Given the description of an element on the screen output the (x, y) to click on. 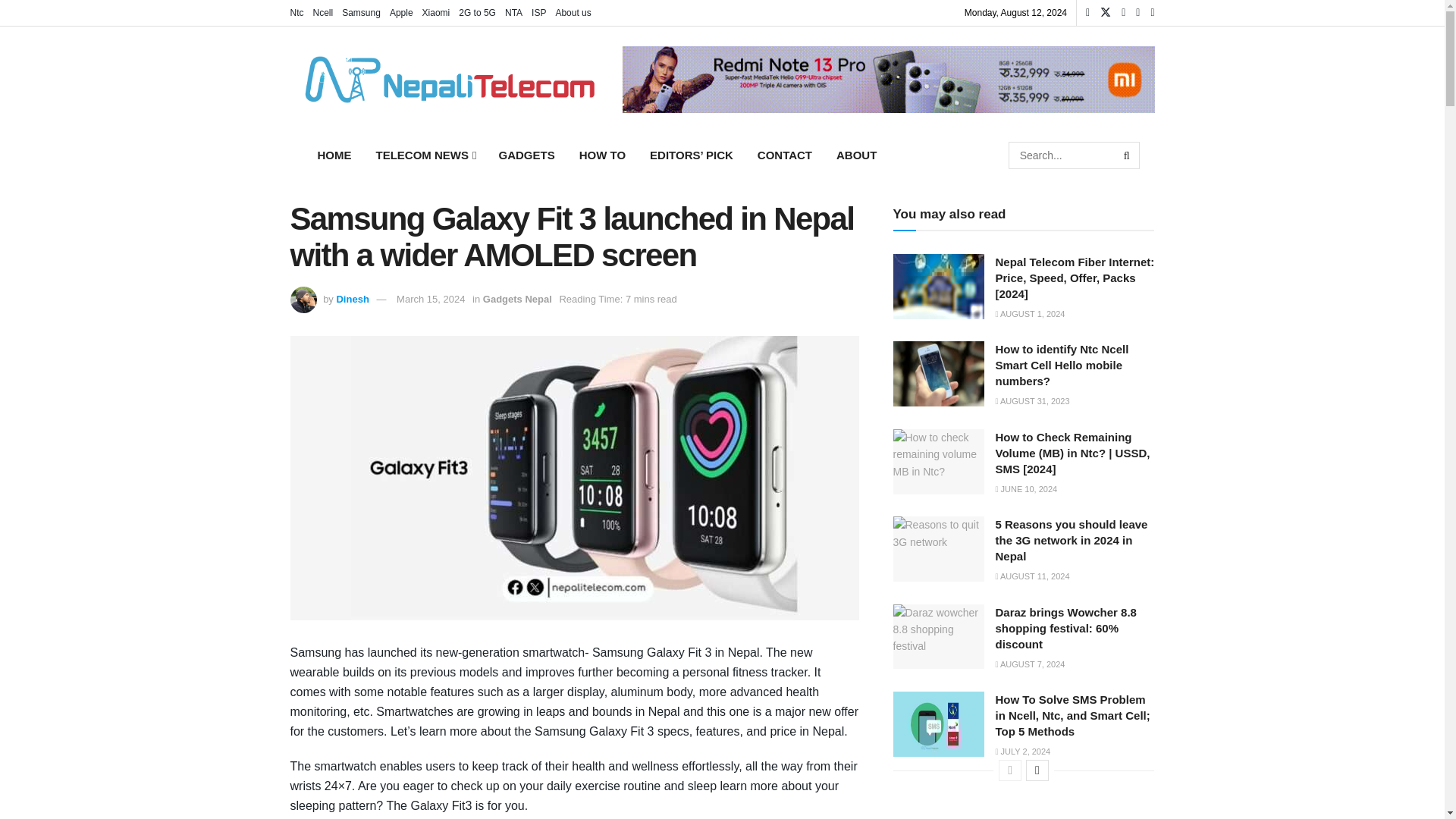
2G to 5G (477, 12)
Next (1037, 770)
CONTACT (784, 155)
About us (572, 12)
Previous (1010, 770)
TELECOM NEWS (425, 155)
Samsung (361, 12)
Xiaomi (435, 12)
HOW TO (602, 155)
HOME (333, 155)
